Given the description of an element on the screen output the (x, y) to click on. 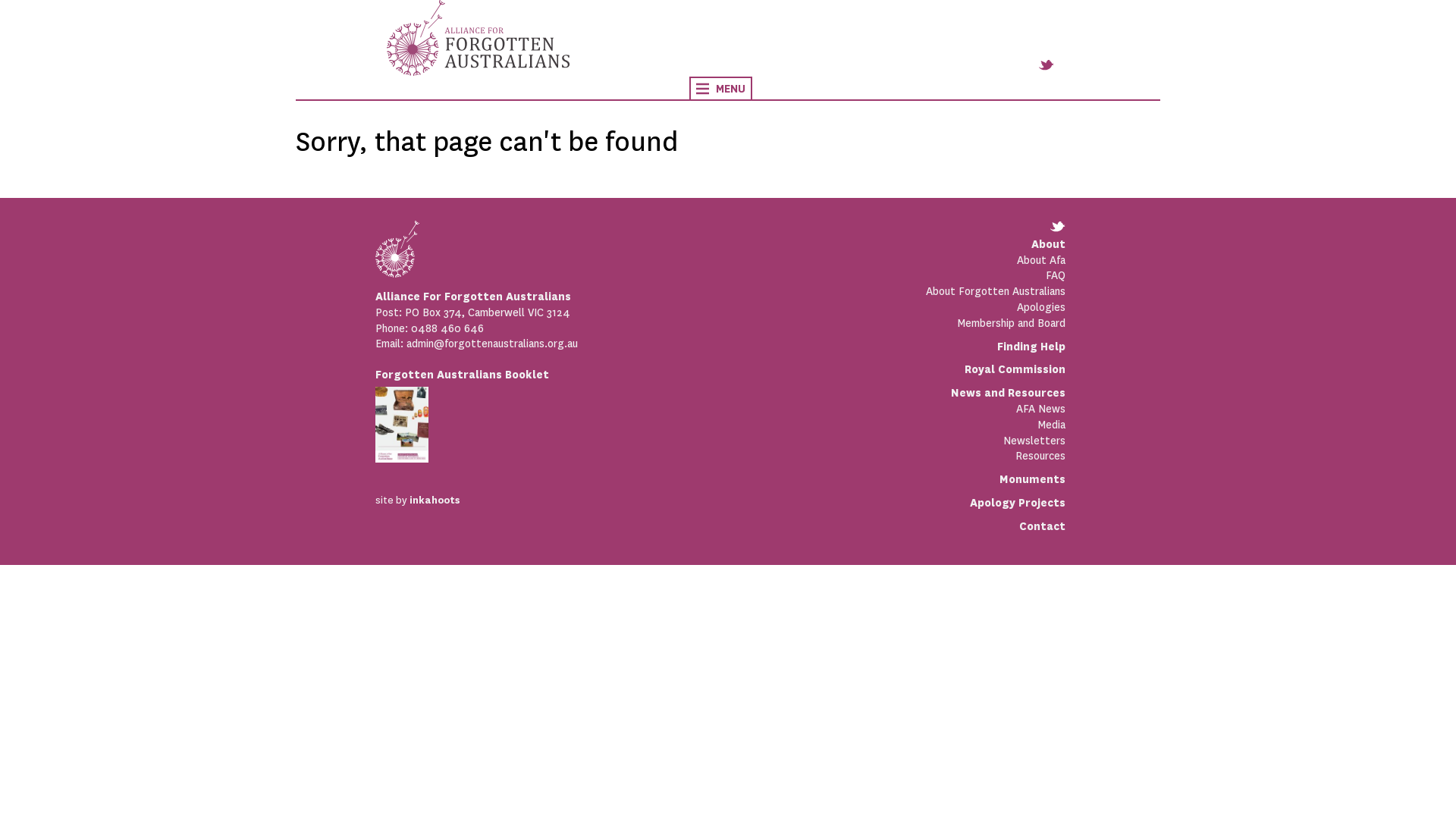
About Afa Element type: text (892, 260)
About Forgotten Australians Element type: text (892, 291)
admin@forgottenaustralians.org.au Element type: text (491, 343)
Apologies Element type: text (892, 307)
Resources Element type: text (892, 456)
AFA News Element type: text (892, 409)
Media Element type: text (892, 425)
Royal Commission Element type: text (1014, 369)
Apology Projects Element type: text (1017, 502)
Monuments Element type: text (1032, 479)
Contact Element type: text (1042, 526)
Finding Help Element type: text (1031, 346)
inkahoots Element type: text (434, 499)
FAQ Element type: text (892, 275)
Membership and Board Element type: text (892, 323)
0488 460 646 Element type: text (447, 328)
Newsletters Element type: text (892, 440)
